Given the description of an element on the screen output the (x, y) to click on. 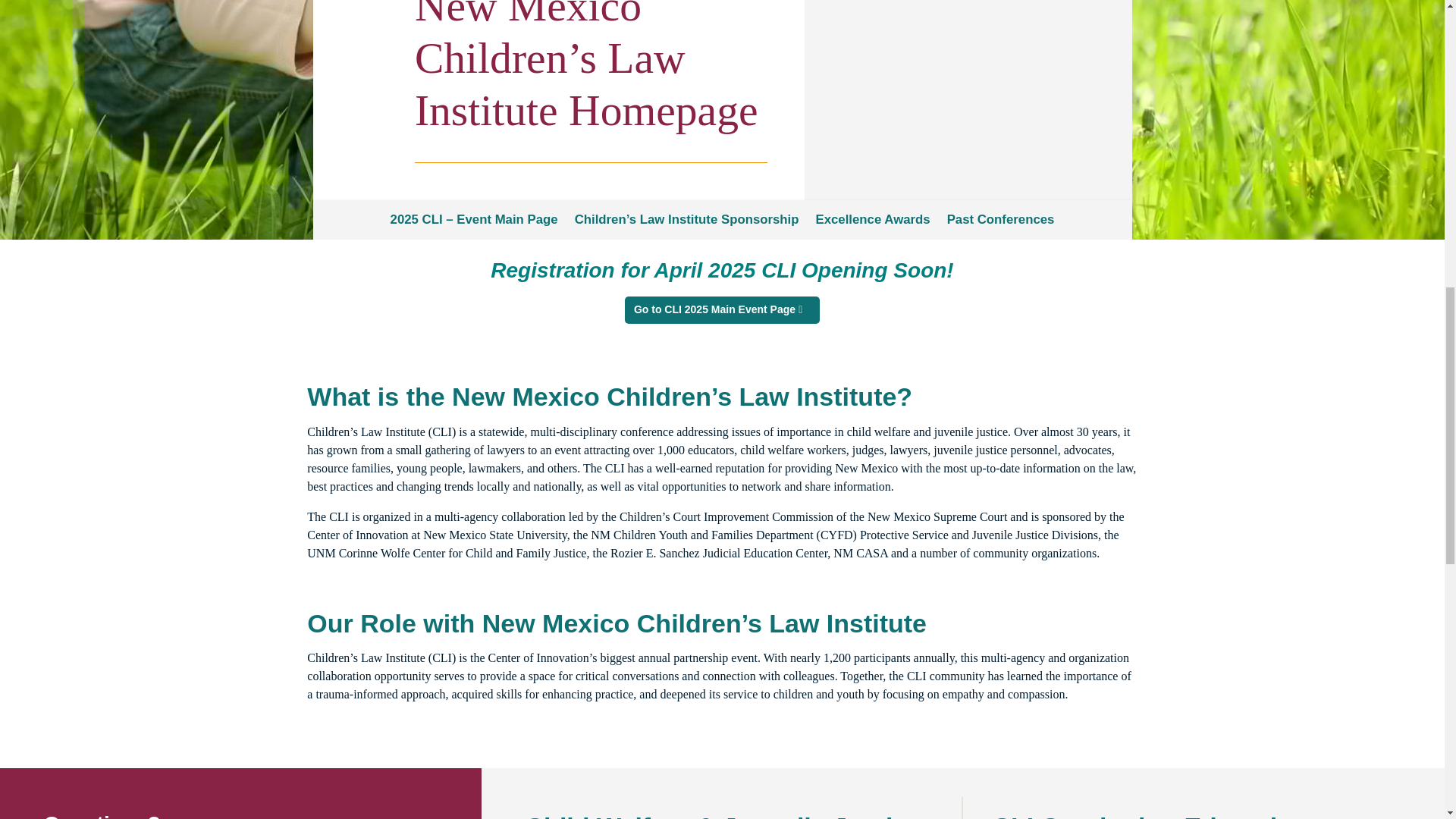
Excellence Awards (872, 222)
Past Conferences (1000, 222)
Go to CLI 2025 Main Event Page (721, 309)
